Given the description of an element on the screen output the (x, y) to click on. 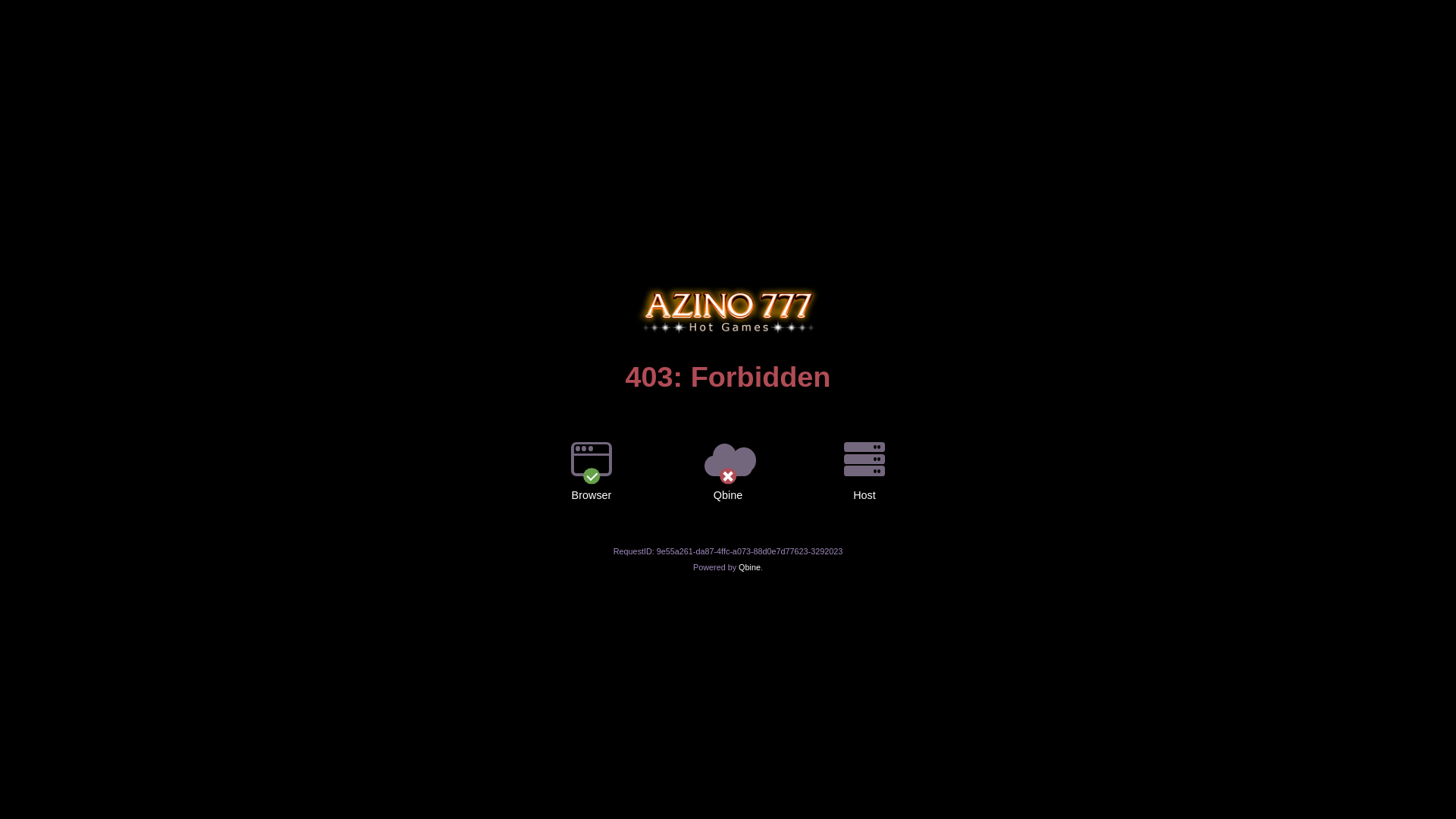
  Element type: text (727, 285)
Qbine Element type: text (749, 566)
